Given the description of an element on the screen output the (x, y) to click on. 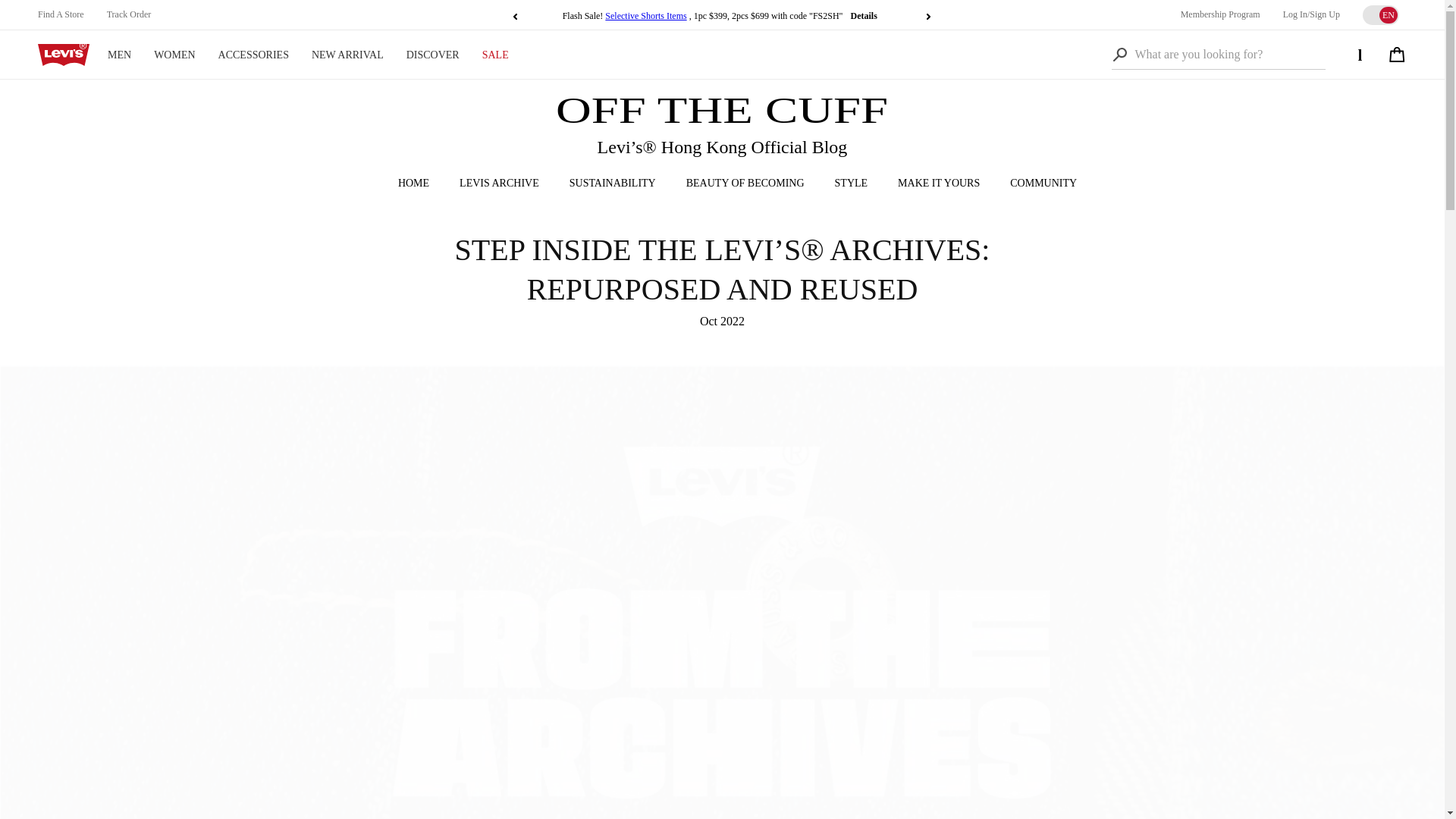
Selective Shorts Items (646, 15)
Track Order (128, 14)
Skip to content (45, 17)
Membership Program (1220, 14)
Find A Store (60, 14)
